Given the description of an element on the screen output the (x, y) to click on. 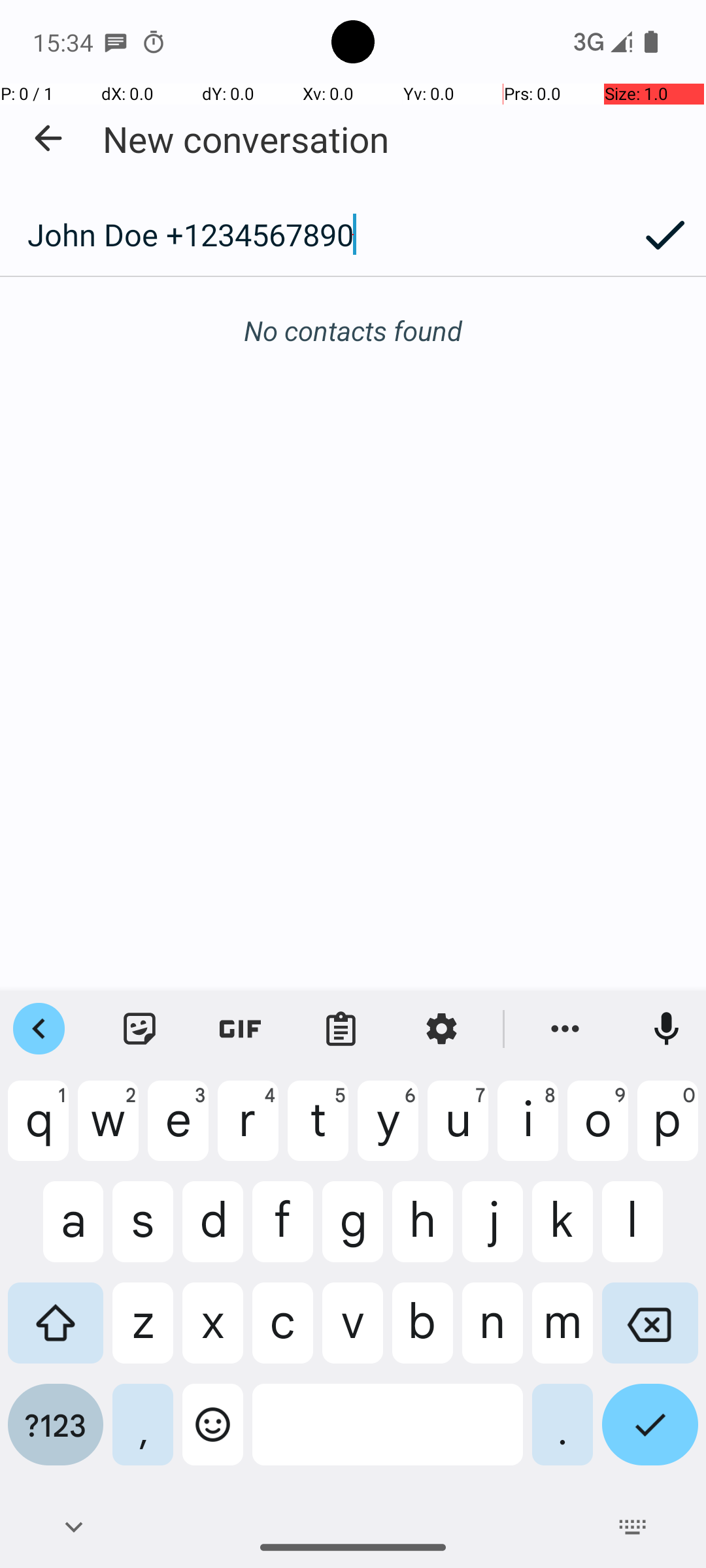
John Doe +1234567890 Element type: android.widget.EditText (311, 234)
